Given the description of an element on the screen output the (x, y) to click on. 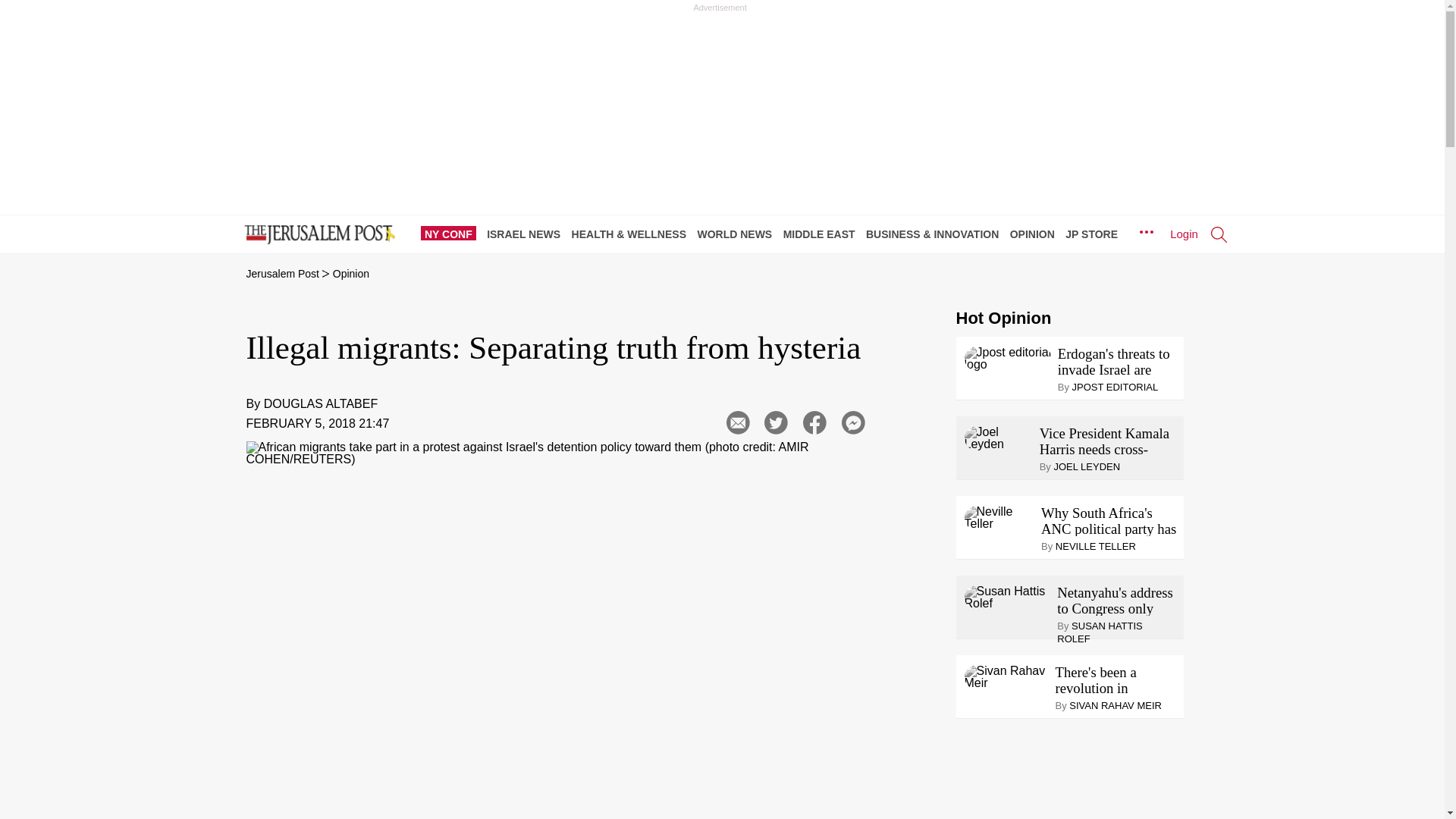
Hot Opinion (1003, 317)
Jpost editorial logo  (1007, 358)
Jerusalem Post (282, 273)
Susan Hattis Rolef (1007, 597)
MIDDLE EAST (823, 234)
Opinion (351, 273)
The Jerusalem Post Logo - Bring them home now (316, 235)
JP STORE (1095, 234)
 Sivan Rahav Meir (1006, 677)
